Given the description of an element on the screen output the (x, y) to click on. 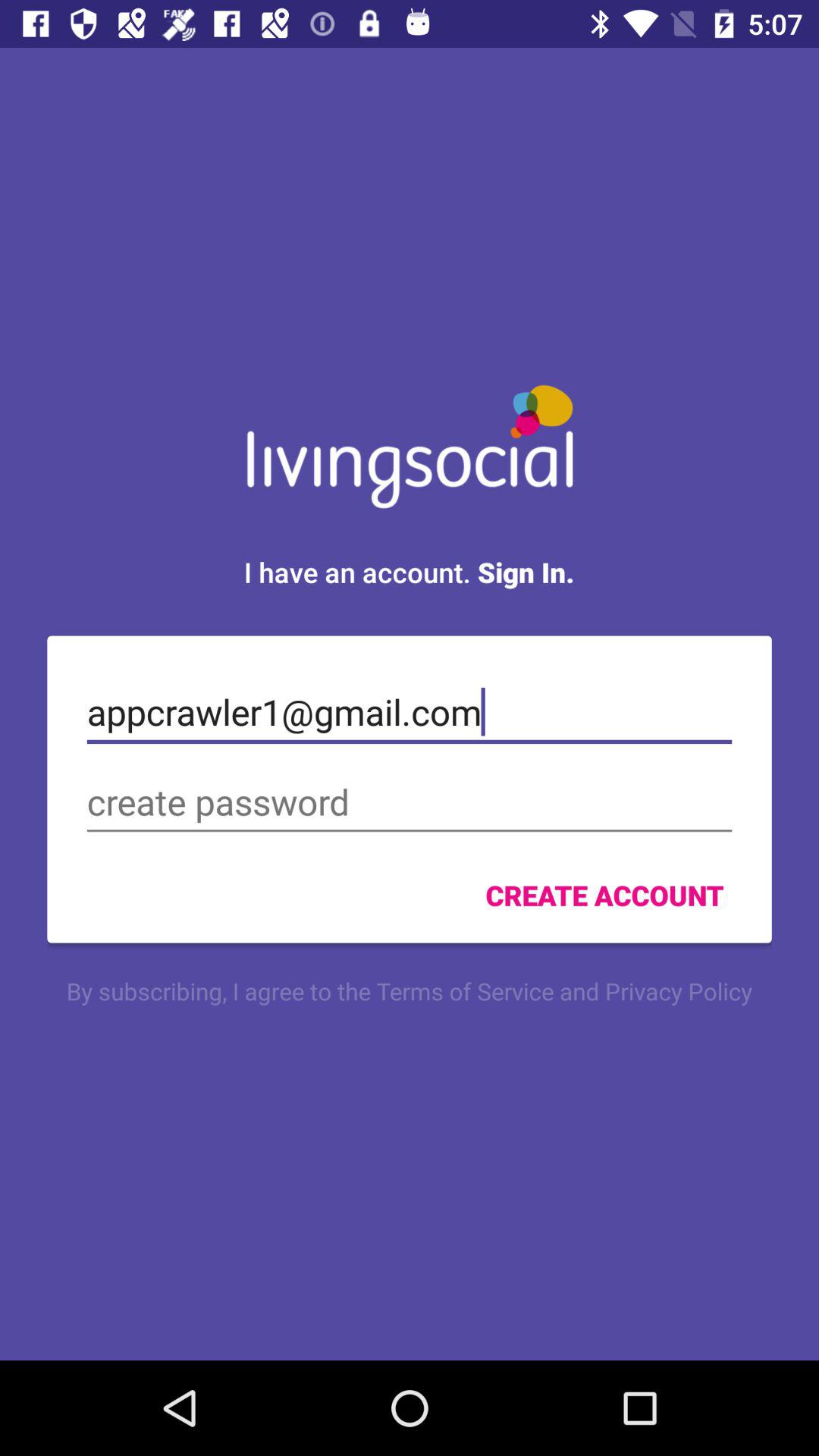
tap icon below appcrawler1@gmail.com item (409, 802)
